Given the description of an element on the screen output the (x, y) to click on. 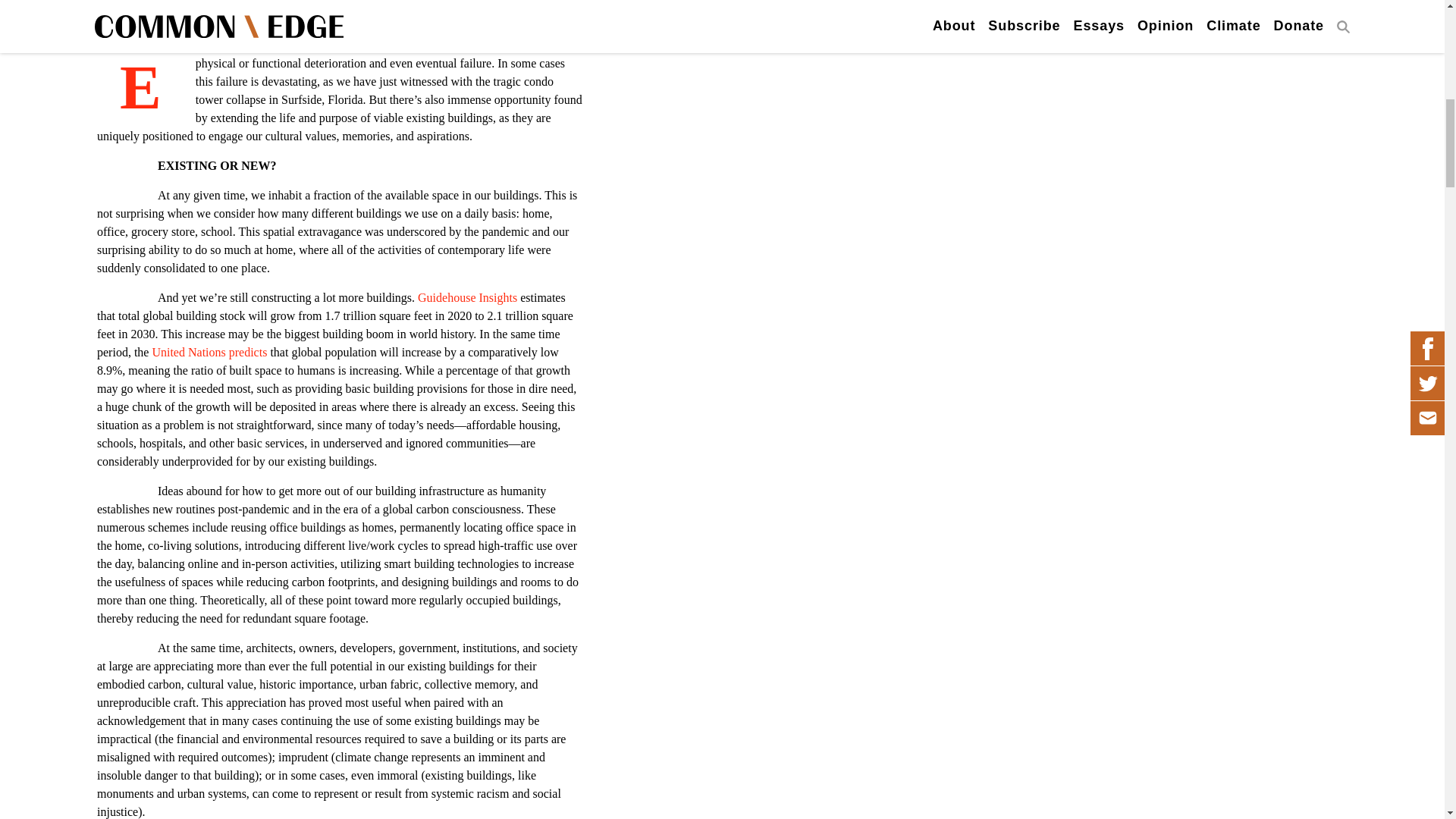
United Nations predicts (208, 351)
Guidehouse Insights (465, 297)
